Given the description of an element on the screen output the (x, y) to click on. 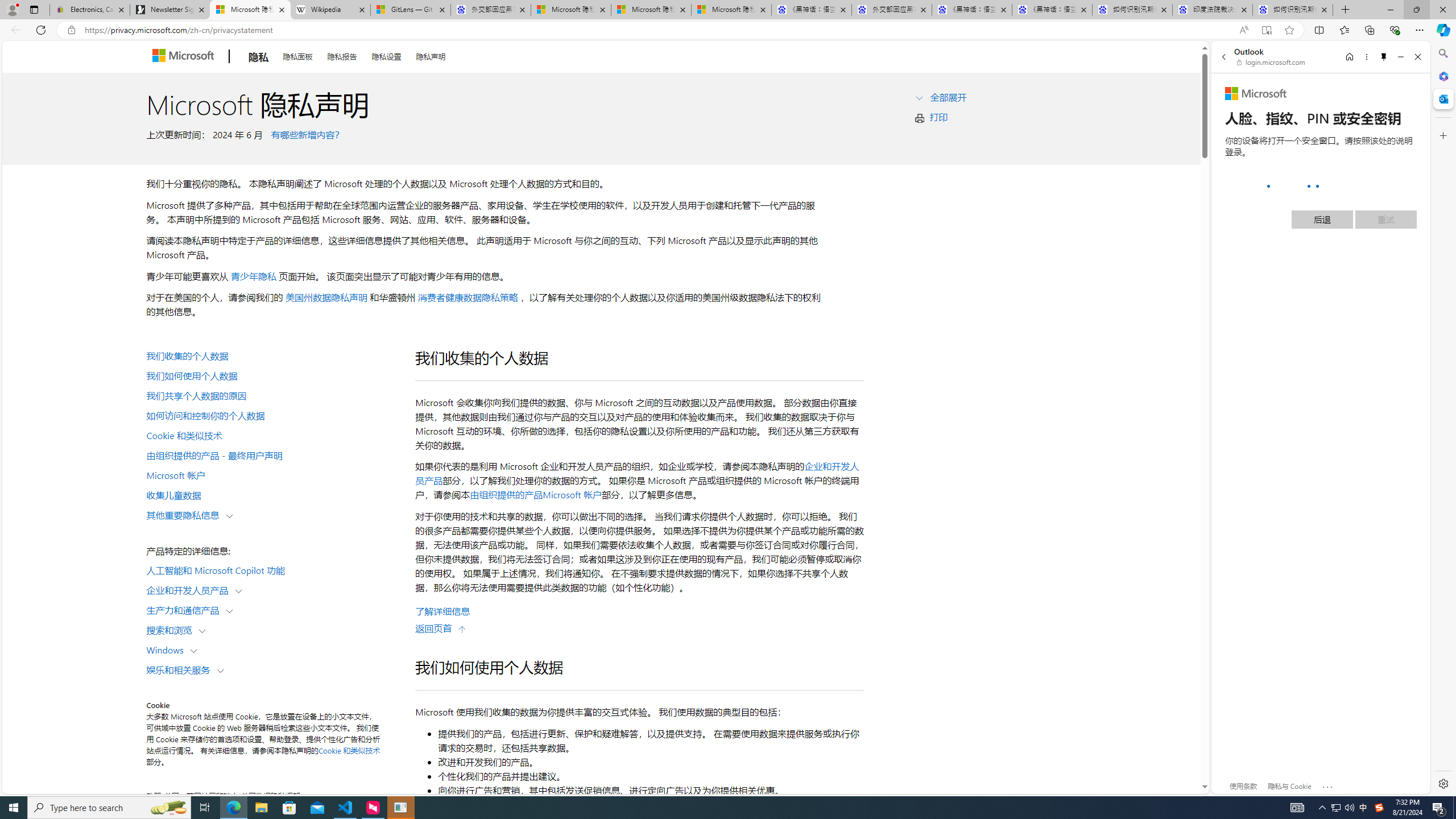
Windows (167, 649)
